Given the description of an element on the screen output the (x, y) to click on. 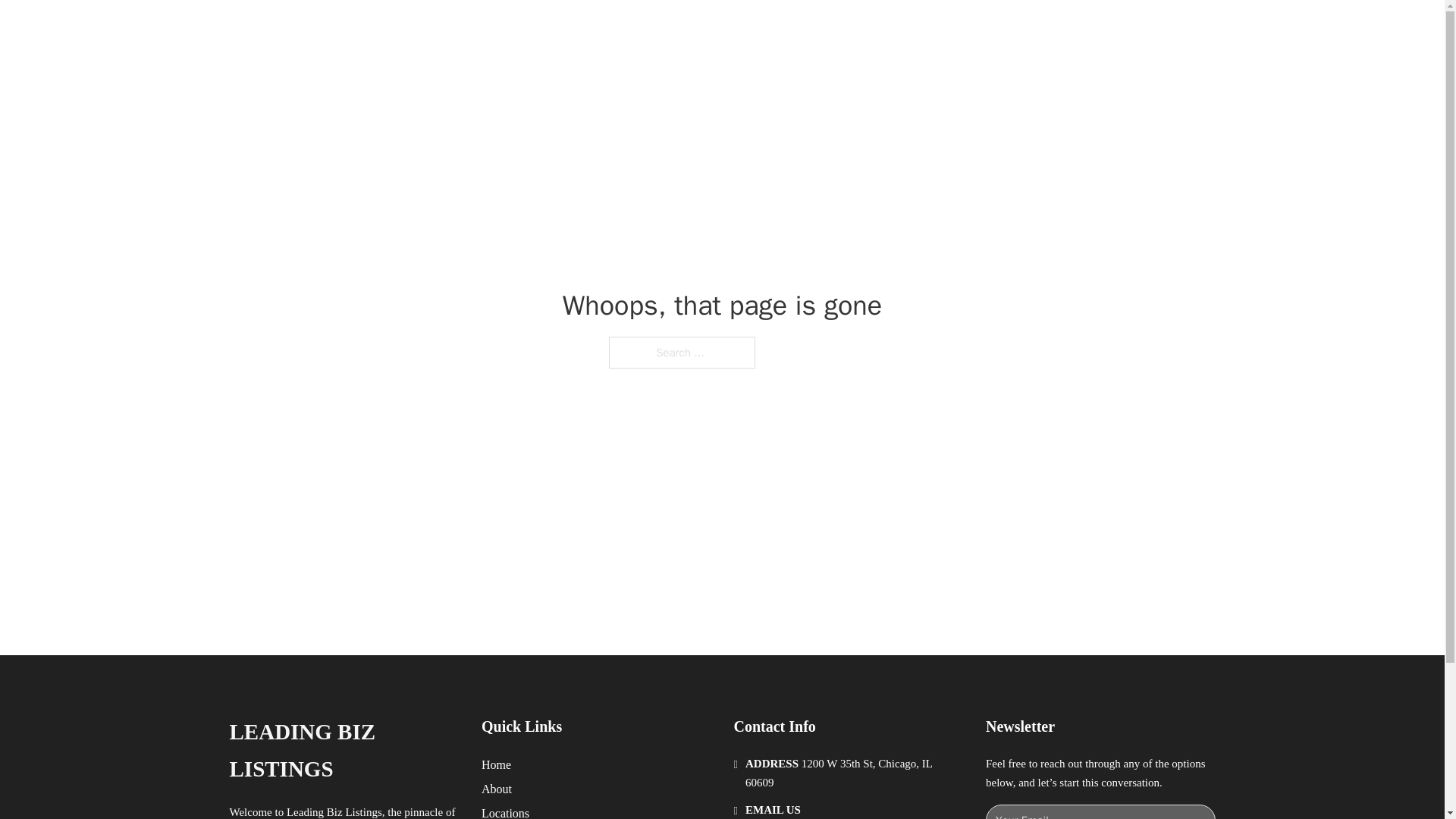
Home (496, 764)
LEADING BIZ LISTINGS (343, 750)
About (496, 788)
Locations (505, 811)
